Given the description of an element on the screen output the (x, y) to click on. 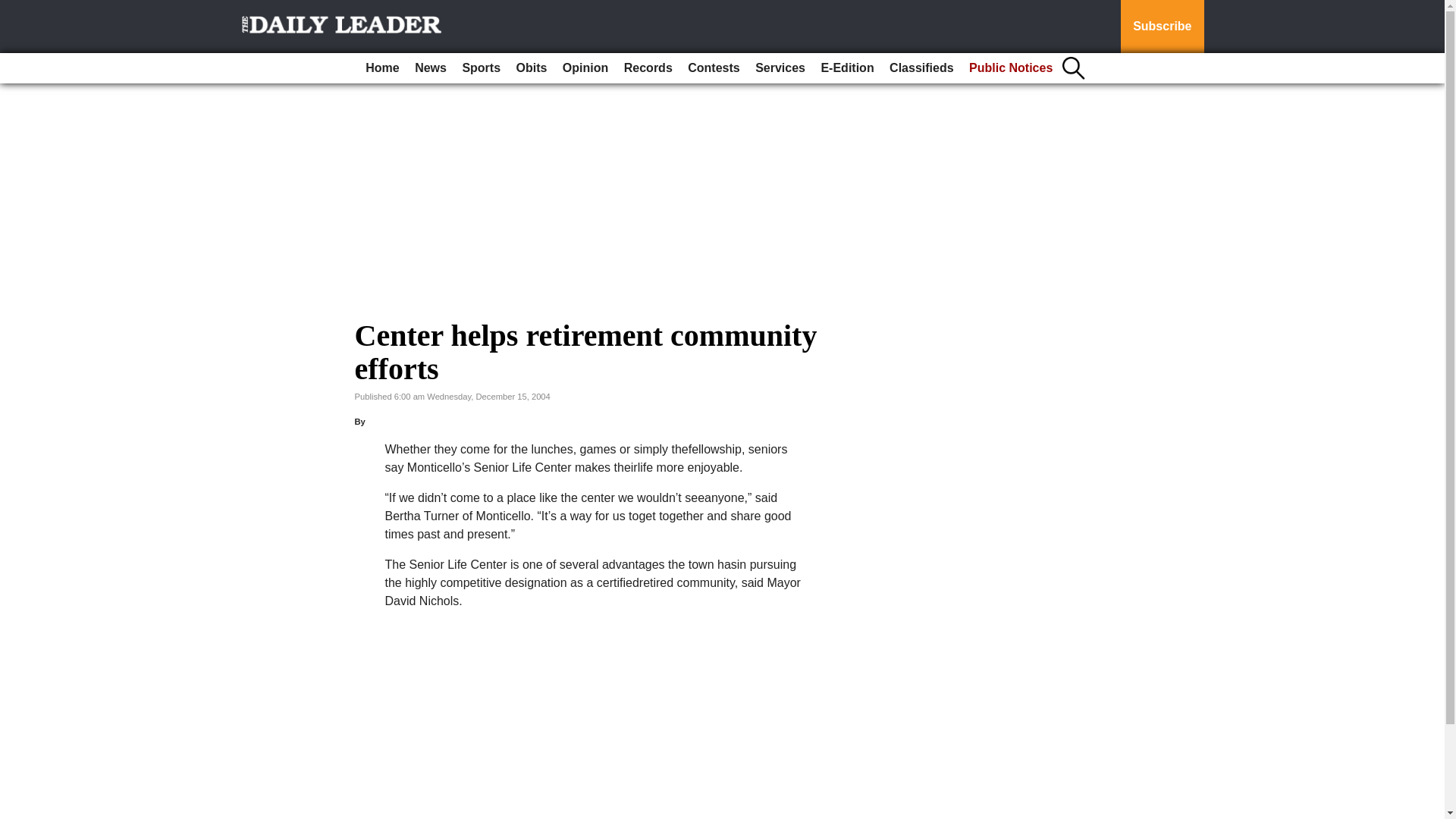
Go (13, 9)
Public Notices (1010, 68)
Subscribe (1162, 26)
Opinion (585, 68)
E-Edition (846, 68)
Sports (480, 68)
Services (779, 68)
Classifieds (921, 68)
Records (647, 68)
Contests (713, 68)
